Given the description of an element on the screen output the (x, y) to click on. 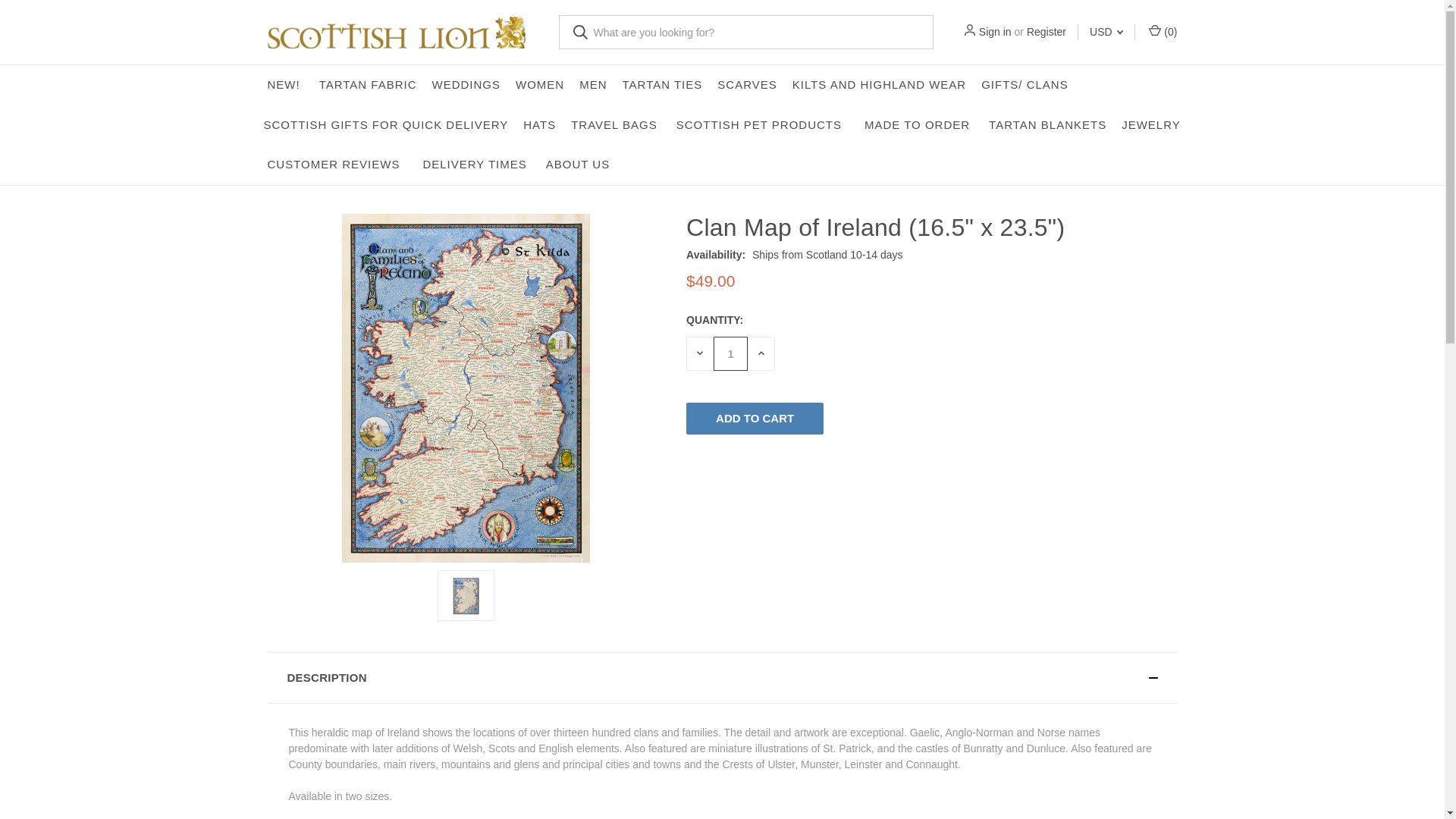
USD (1106, 32)
Scottish Lion (395, 31)
Register (1045, 32)
TARTAN FABRIC (368, 85)
Sign in (994, 32)
NEW! (283, 85)
WEDDINGS (466, 85)
1 (730, 353)
Add to Cart (754, 418)
WOMEN (540, 85)
